Given the description of an element on the screen output the (x, y) to click on. 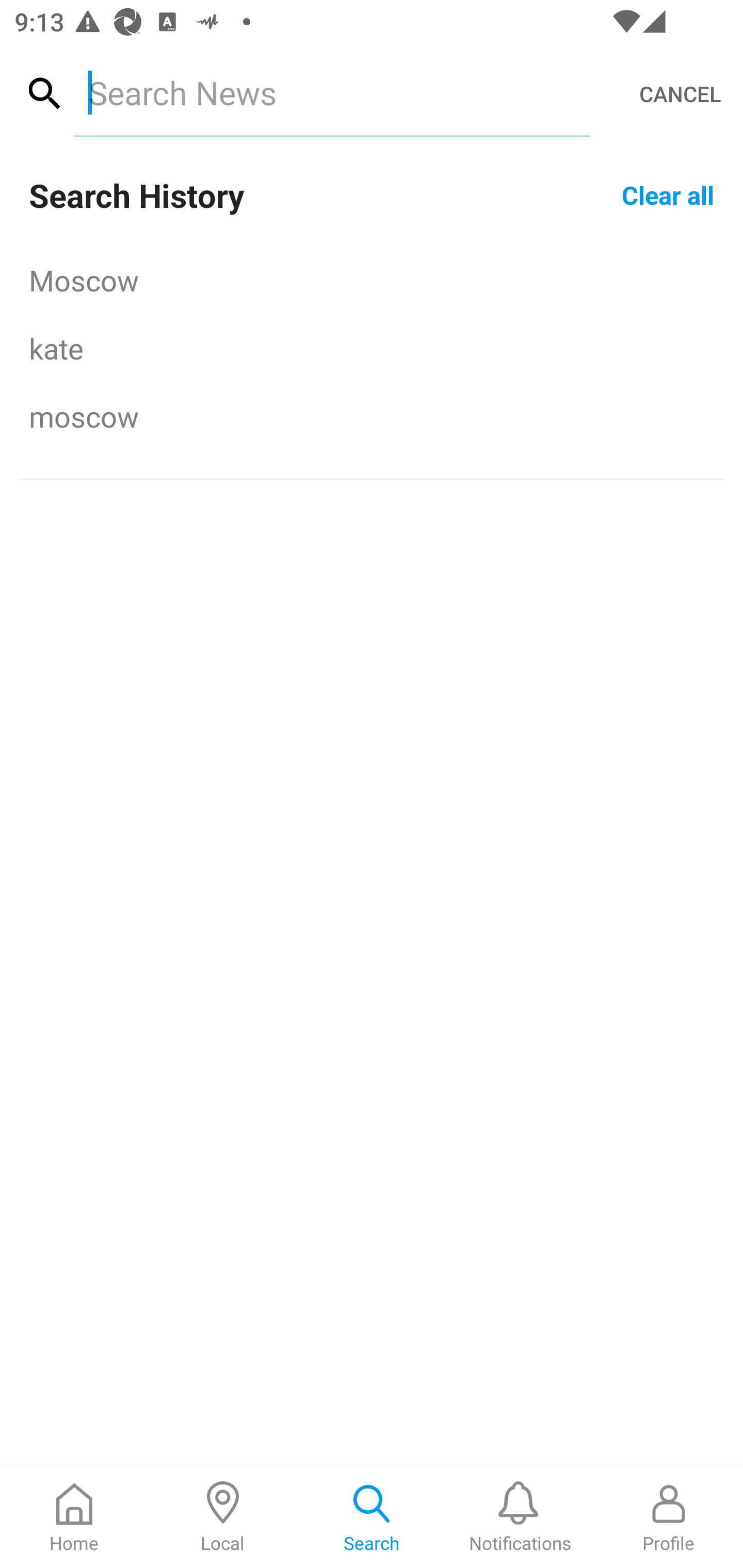
CANCEL (680, 93)
Search News (331, 92)
Clear all (667, 194)
Moscow (371, 279)
kate (371, 347)
moscow (371, 416)
Home (74, 1517)
Local (222, 1517)
Notifications (519, 1517)
Profile (668, 1517)
